Given the description of an element on the screen output the (x, y) to click on. 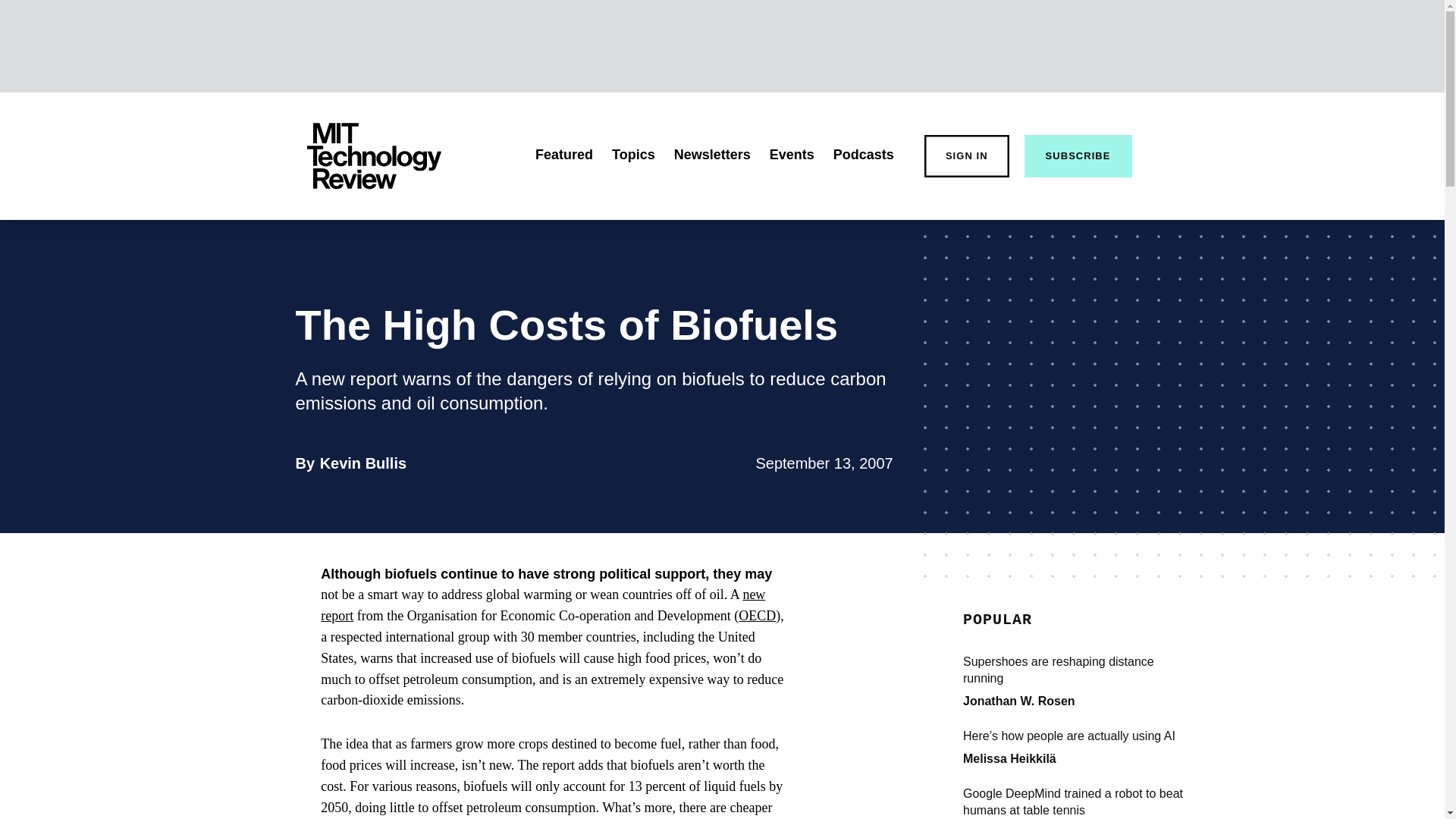
Events (791, 154)
SIGN IN (966, 156)
Podcasts (862, 154)
OECD (757, 615)
Featured (563, 154)
new report (542, 605)
MIT Technology Review (373, 155)
SUBSCRIBE (1078, 156)
Jonathan W. Rosen (1018, 700)
